Given the description of an element on the screen output the (x, y) to click on. 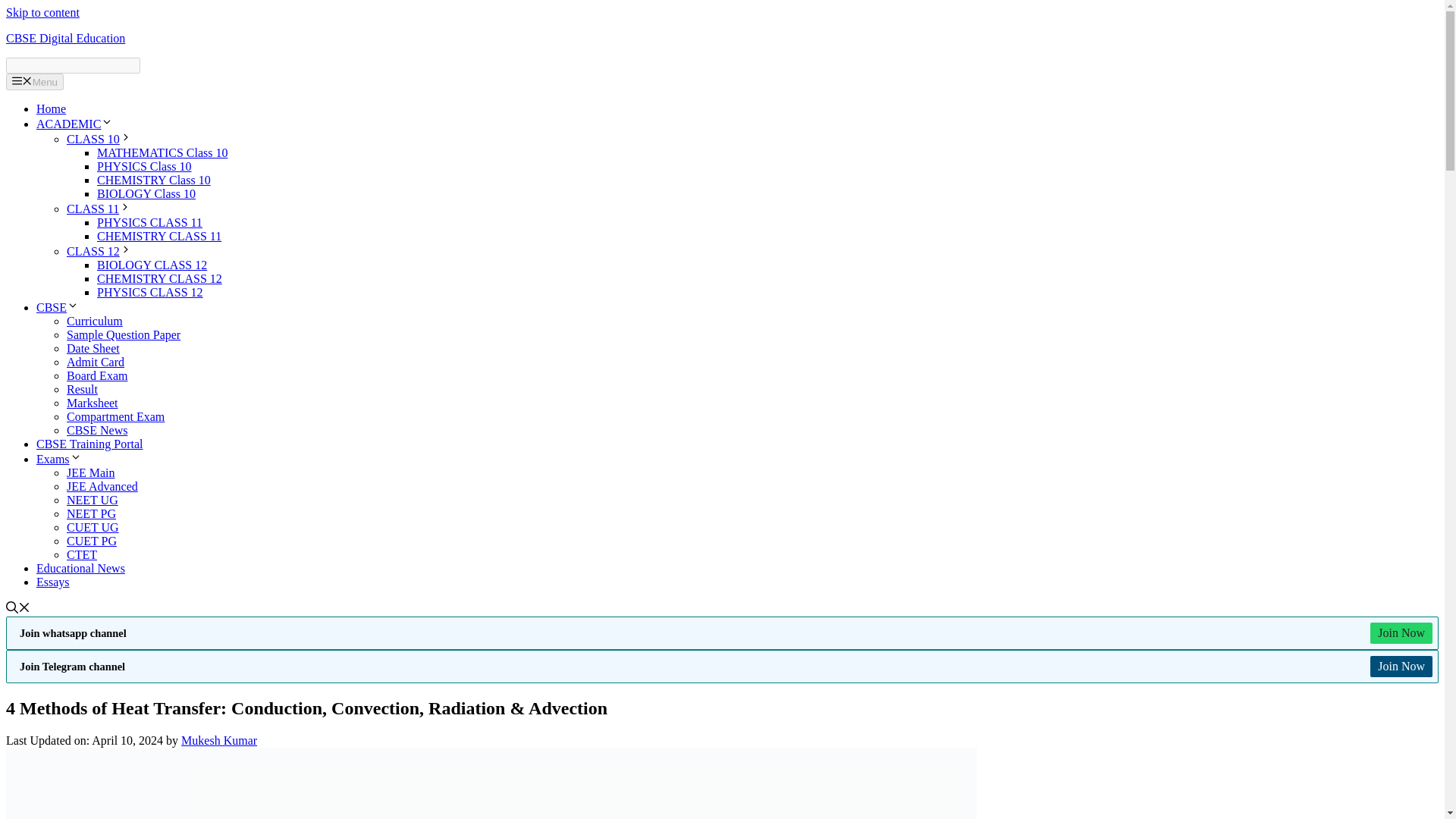
View all posts by Mukesh Kumar (218, 739)
Admit Card (94, 361)
Educational News (80, 567)
Skip to content (42, 11)
CHEMISTRY CLASS 11 (159, 236)
CTET (81, 554)
CBSE Training Portal (89, 443)
JEE Advanced (102, 486)
JEE Main (90, 472)
NEET UG (91, 499)
Menu (34, 81)
Home (50, 108)
CBSE News (97, 430)
CBSE (57, 307)
Exams (58, 459)
